Given the description of an element on the screen output the (x, y) to click on. 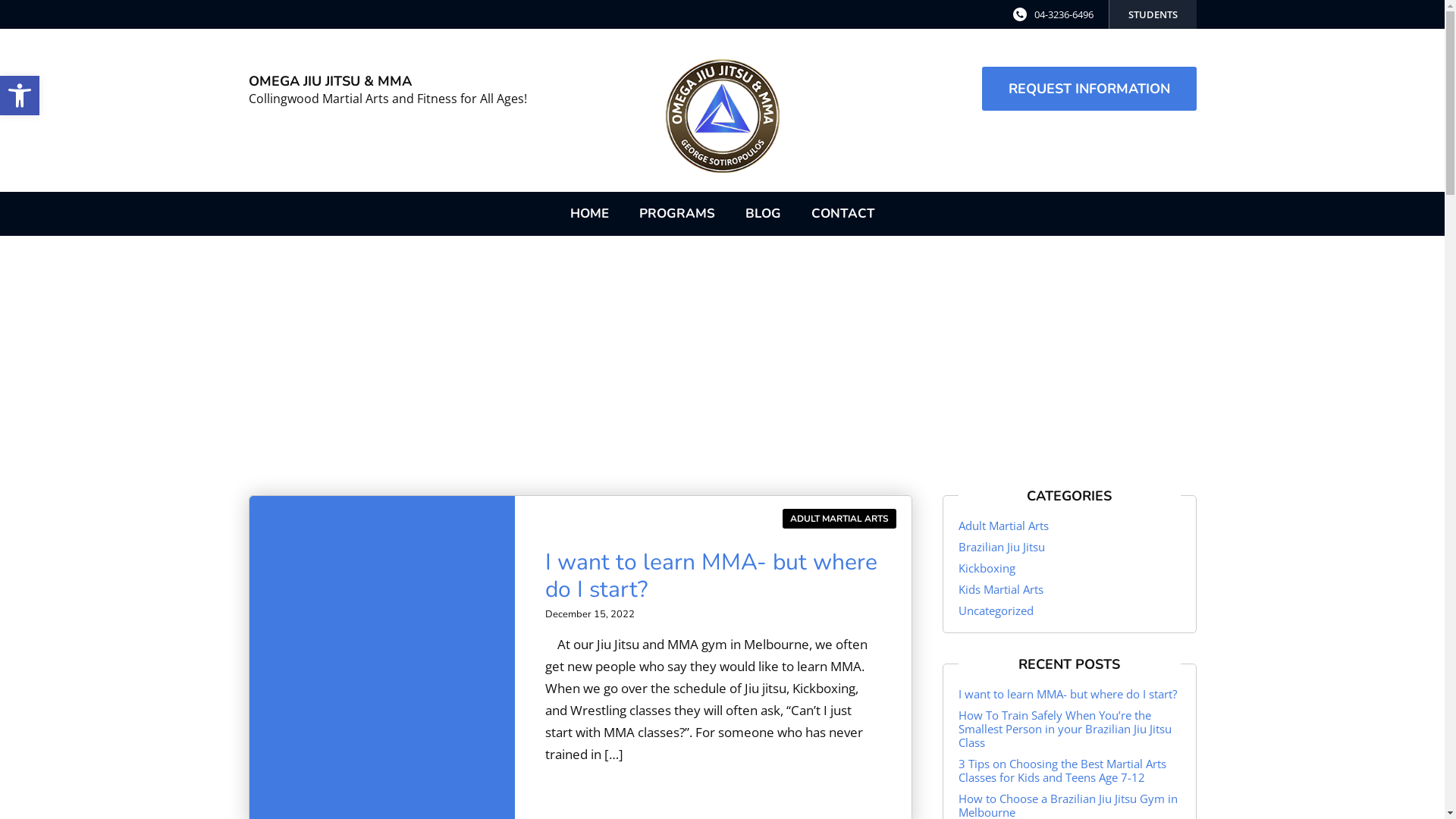
BLOG Element type: text (762, 213)
STUDENTS Element type: text (1152, 14)
Brazilian Jiu Jitsu Element type: text (1001, 546)
REQUEST INFORMATION Element type: text (1088, 88)
Kids Martial Arts Element type: text (1000, 588)
PROGRAMS Element type: text (676, 213)
I want to learn MMA- but where do I start? Element type: text (710, 575)
Open toolbar
Accessibility Tools Element type: text (19, 95)
04-3236-6496 Element type: text (1063, 14)
I want to learn MMA- but where do I start? Element type: text (1067, 693)
Kickboxing Element type: text (986, 567)
HOME Element type: text (589, 213)
CONTACT Element type: text (843, 213)
ADULT MARTIAL ARTS Element type: text (839, 518)
Adult Martial Arts Element type: text (1003, 525)
Uncategorized Element type: text (995, 610)
